Given the description of an element on the screen output the (x, y) to click on. 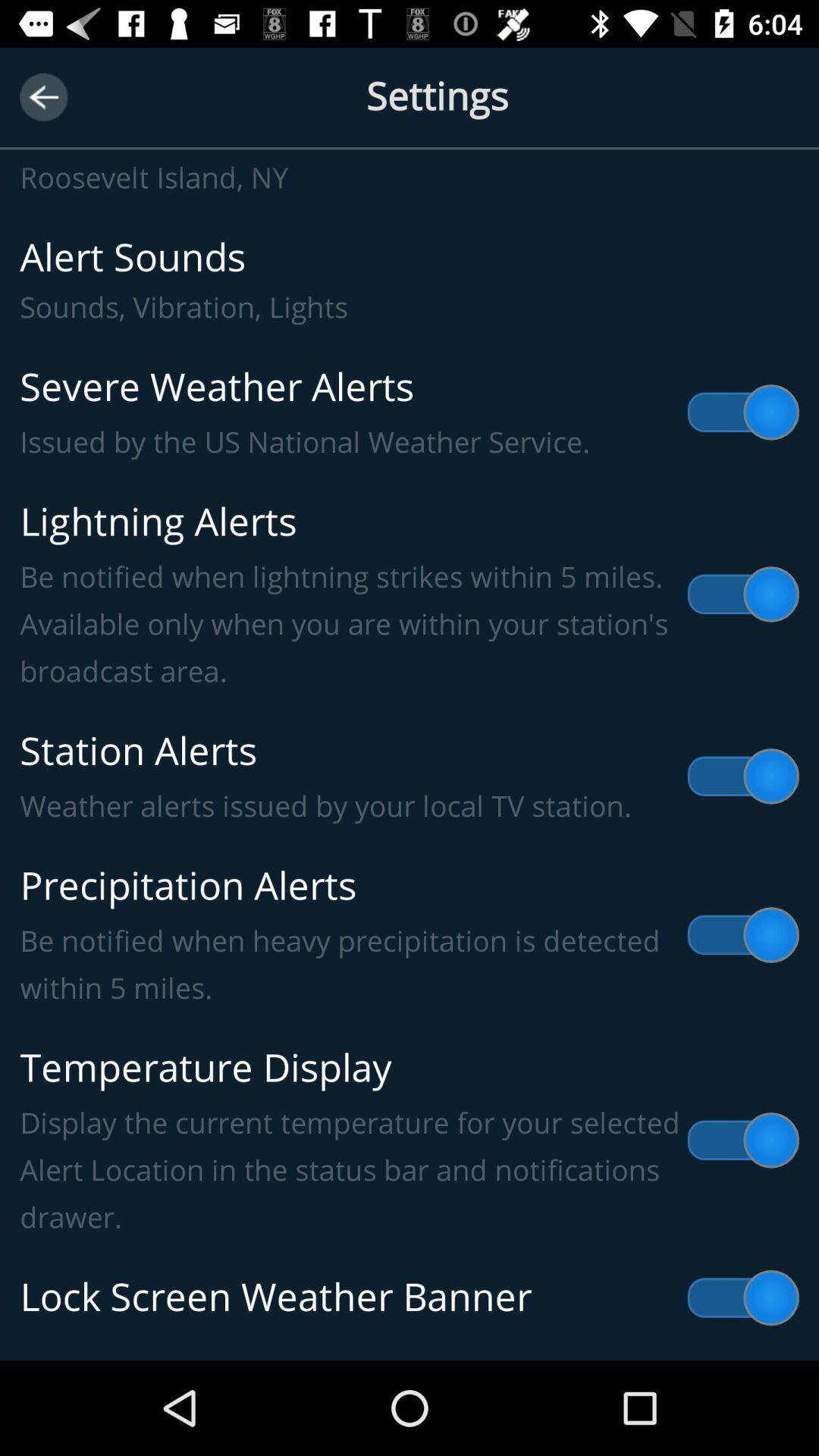
scroll until temperature display display (409, 1140)
